Given the description of an element on the screen output the (x, y) to click on. 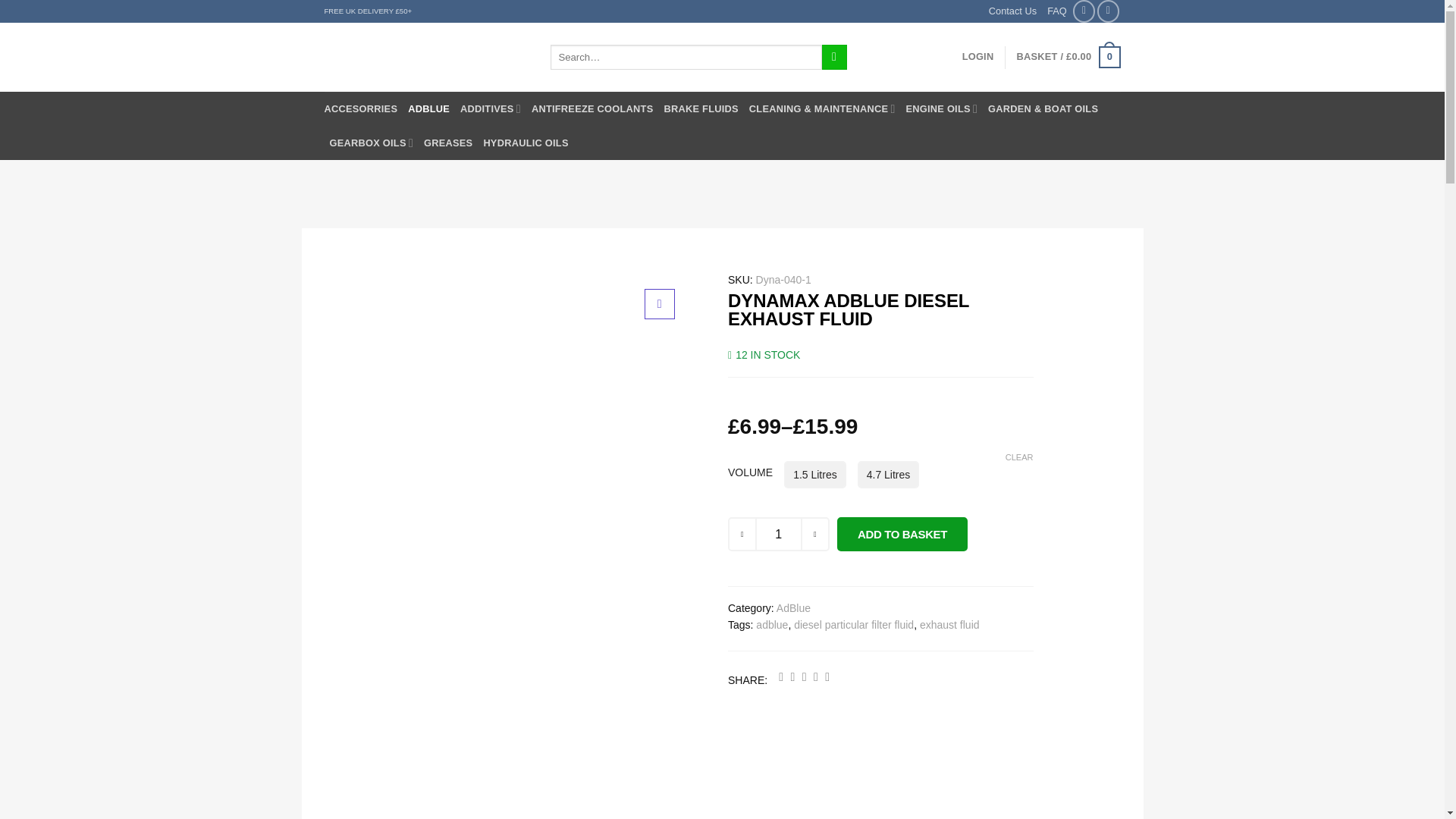
Product Thumbnail (660, 304)
Follow on Instagram (1108, 11)
Basket (1067, 57)
BRAKE FLUIDS (700, 108)
Contact Us (1012, 11)
ADBLUE (428, 108)
GREASES (447, 142)
ANTIFREEZE COOLANTS (592, 108)
GEARBOX OILS (371, 142)
Follow on Facebook (1083, 11)
LOGIN (978, 56)
ENGINE OILS (940, 108)
ADDITIVES (490, 108)
ACCESORRIES (360, 108)
Search (834, 57)
